Given the description of an element on the screen output the (x, y) to click on. 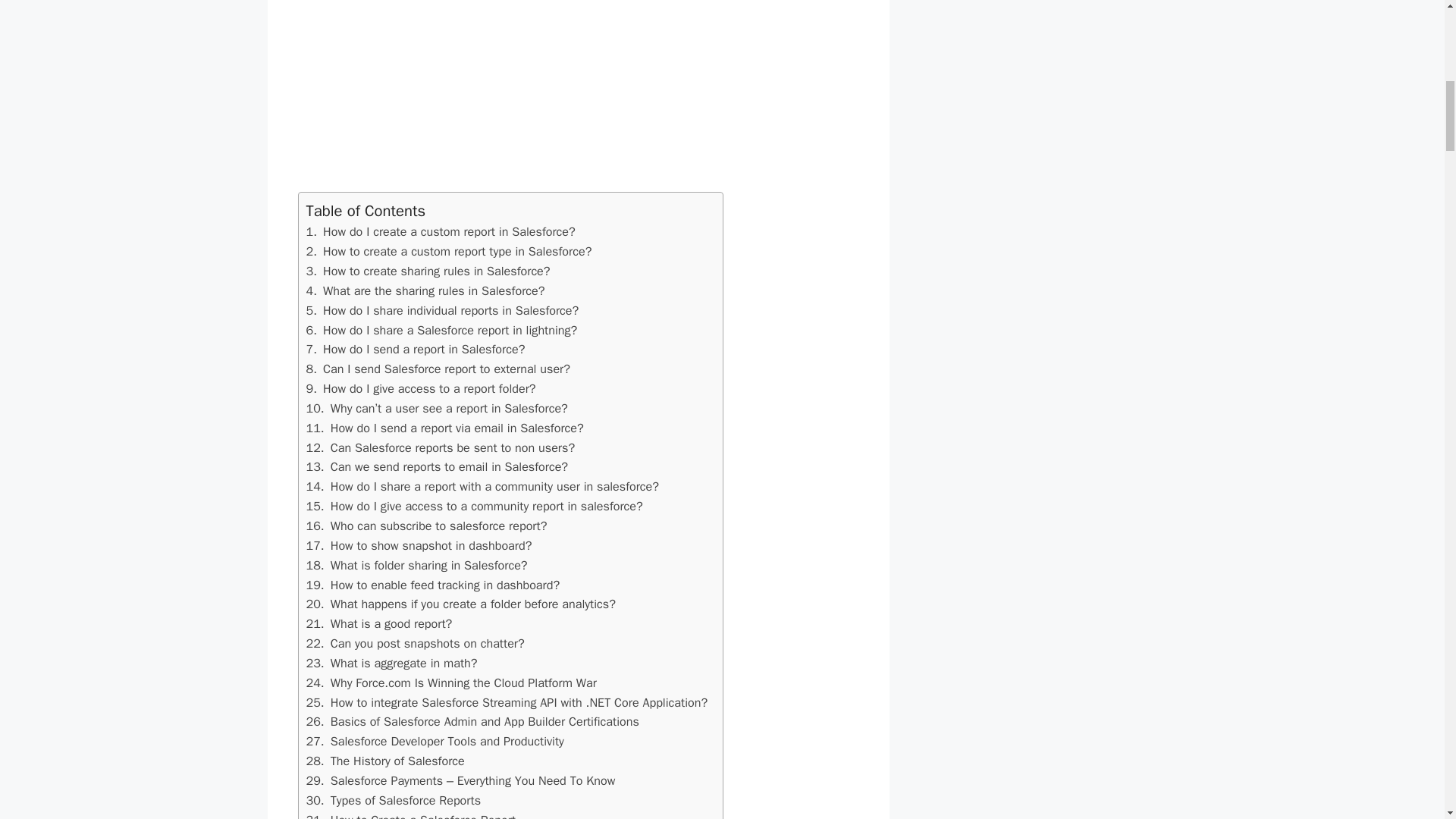
What is a good report? (378, 623)
How do I share a report with a community user in salesforce? (482, 486)
How to enable feed tracking in dashboard? (432, 584)
Can I send Salesforce report to external user? (437, 368)
Basics of Salesforce Admin and App Builder Certifications (472, 721)
Can Salesforce reports be sent to non users? (440, 447)
Why Force.com Is Winning the Cloud Platform War (450, 682)
What are the sharing rules in Salesforce? (424, 290)
Can we send reports to email in Salesforce? (437, 466)
How do I give access to a report folder? (420, 388)
